Given the description of an element on the screen output the (x, y) to click on. 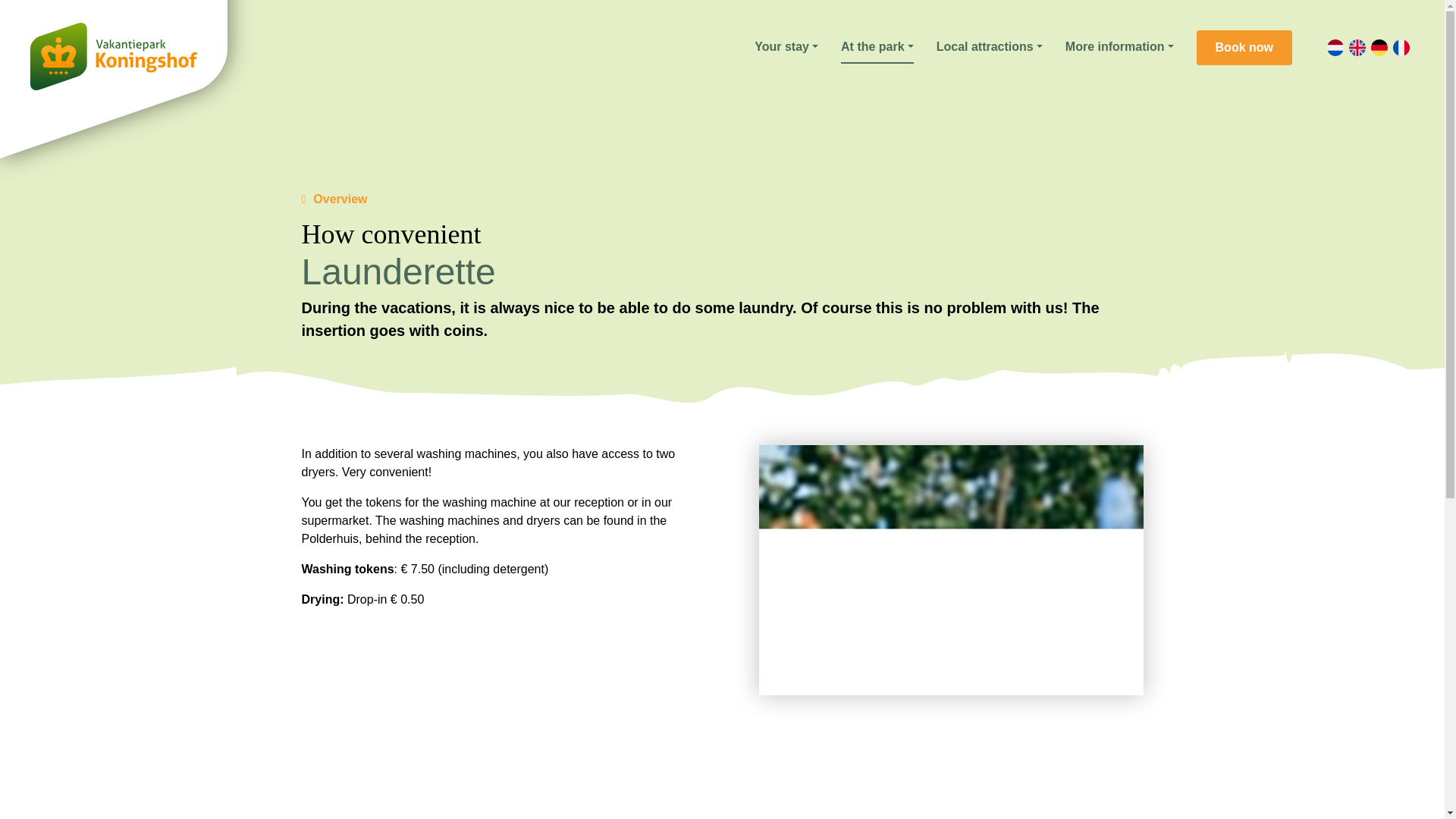
Book now (1244, 47)
Vakantiepark (113, 56)
Local attractions (989, 47)
At the park (877, 47)
Your stay (786, 47)
Book now (1244, 47)
More information (1119, 47)
Wasserette vakantiepark koningshof (950, 570)
